Given the description of an element on the screen output the (x, y) to click on. 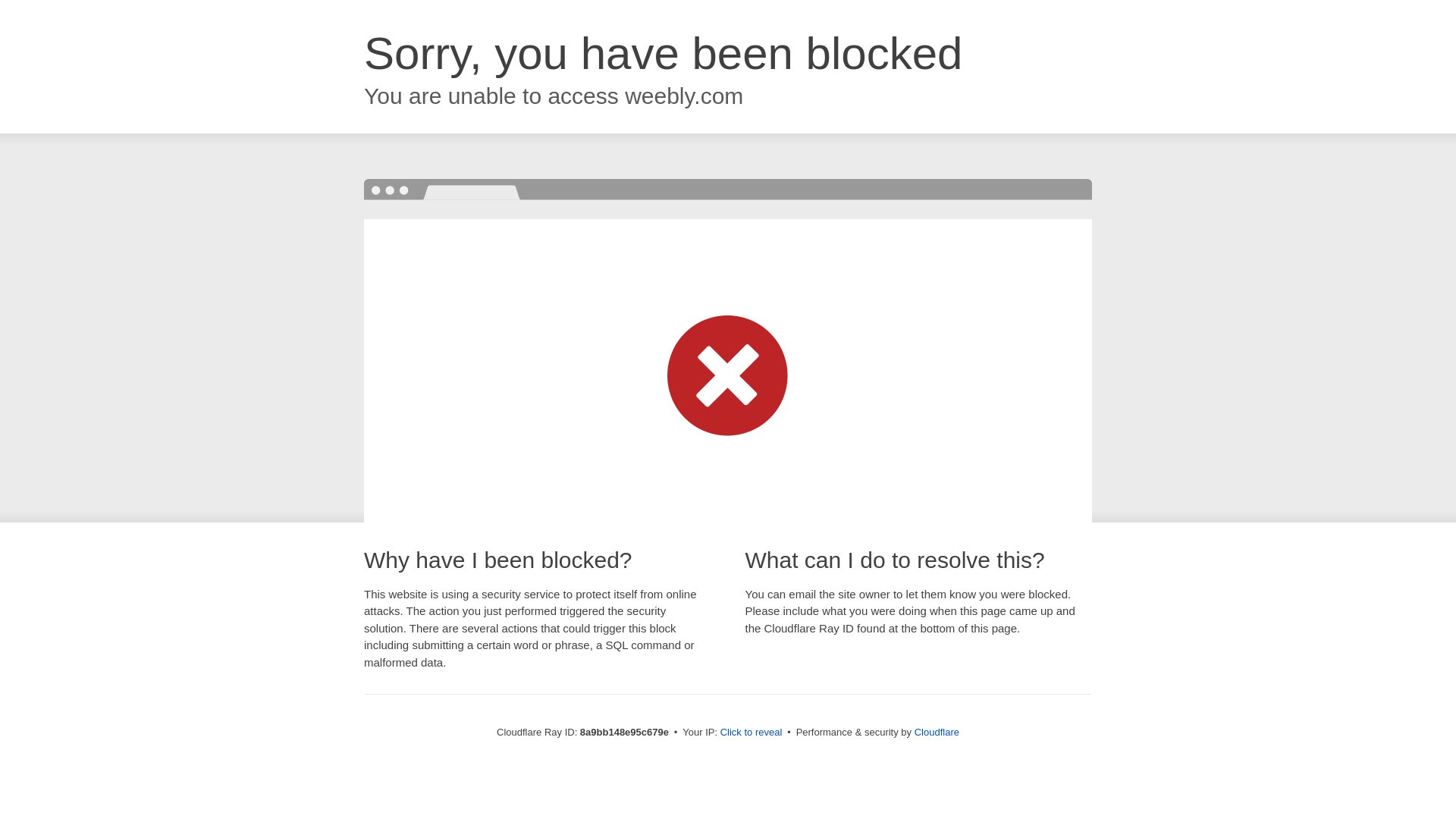
Click to reveal (751, 732)
Cloudflare (936, 731)
